Given the description of an element on the screen output the (x, y) to click on. 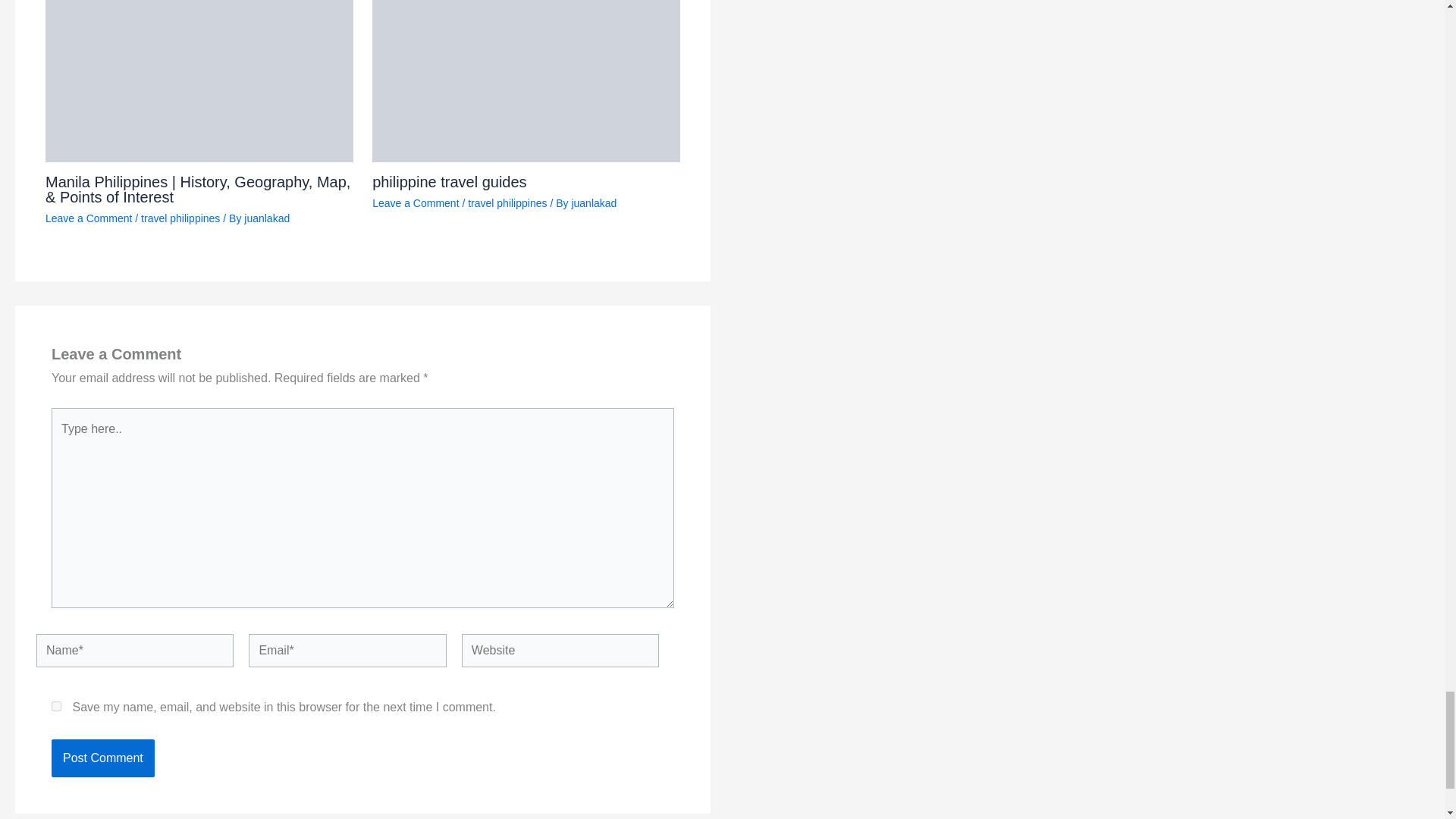
Post Comment (102, 758)
Post Comment (102, 758)
yes (55, 706)
travel philippines (180, 218)
Leave a Comment (415, 203)
Leave a Comment (88, 218)
juanlakad (592, 203)
philippine travel guides (448, 181)
View all posts by juanlakad (592, 203)
juanlakad (266, 218)
View all posts by juanlakad (266, 218)
travel philippines (507, 203)
